Given the description of an element on the screen output the (x, y) to click on. 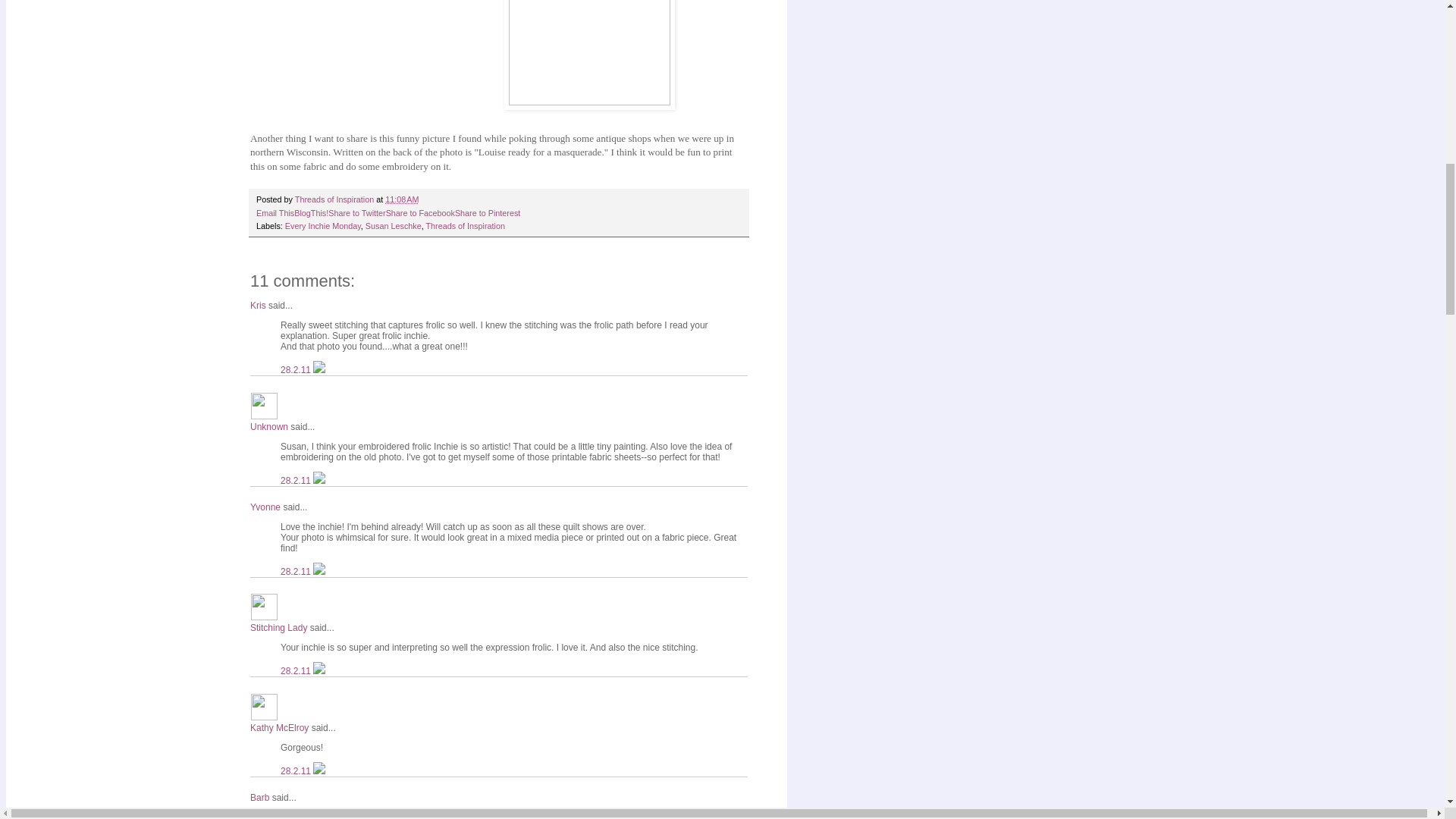
28.2.11 (297, 369)
Delete Comment (318, 480)
Susan Leschke (393, 225)
Every Inchie Monday (323, 225)
BlogThis! (311, 212)
author profile (335, 198)
Share to Pinterest (486, 212)
Unknown (269, 426)
comment permalink (297, 480)
Email Post (426, 198)
Unknown (264, 405)
Email This (275, 212)
28.2.11 (297, 480)
Delete Comment (318, 369)
